Given the description of an element on the screen output the (x, y) to click on. 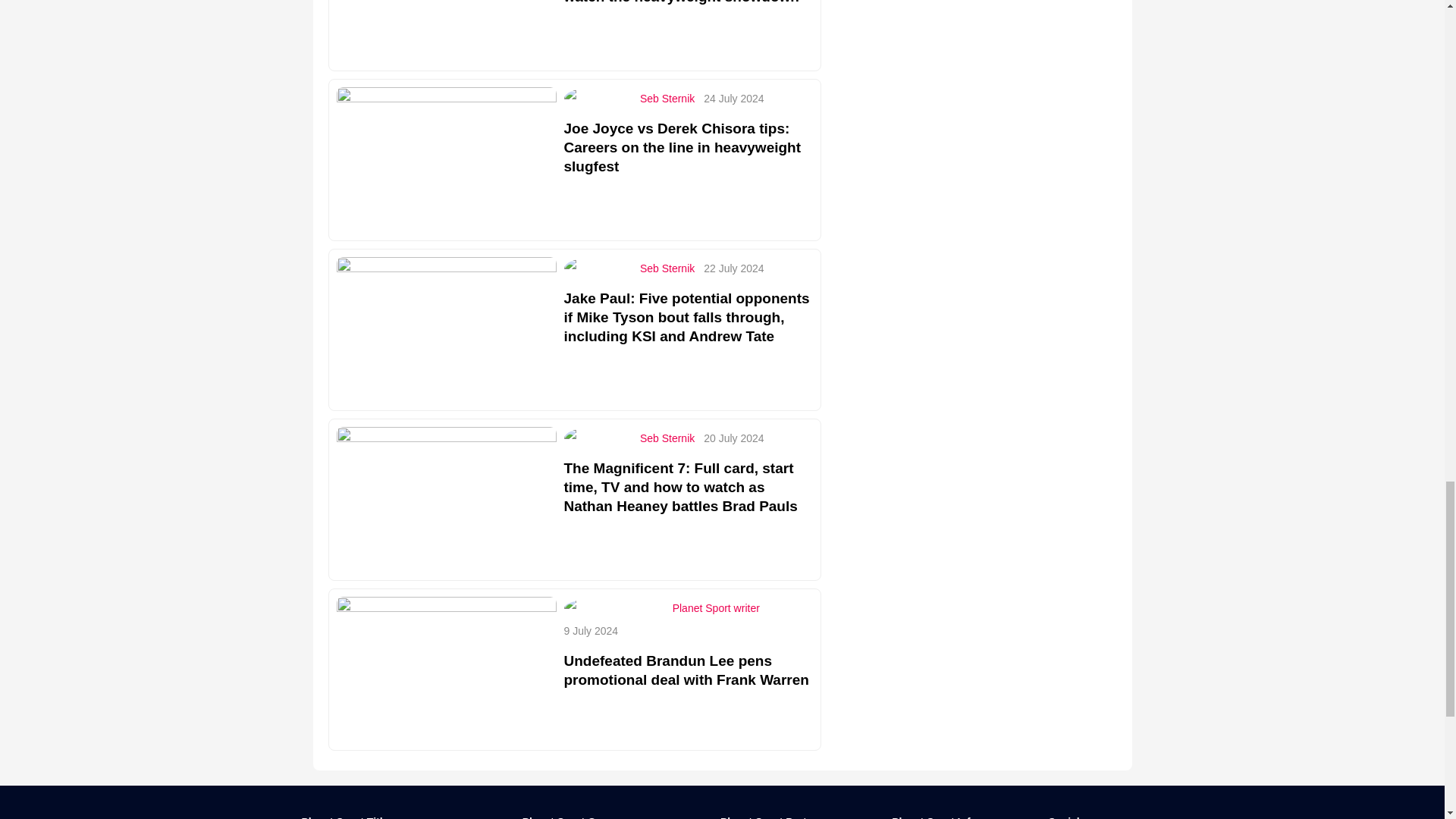
Seb Sternik (667, 268)
Seb Sternik (667, 98)
